Given the description of an element on the screen output the (x, y) to click on. 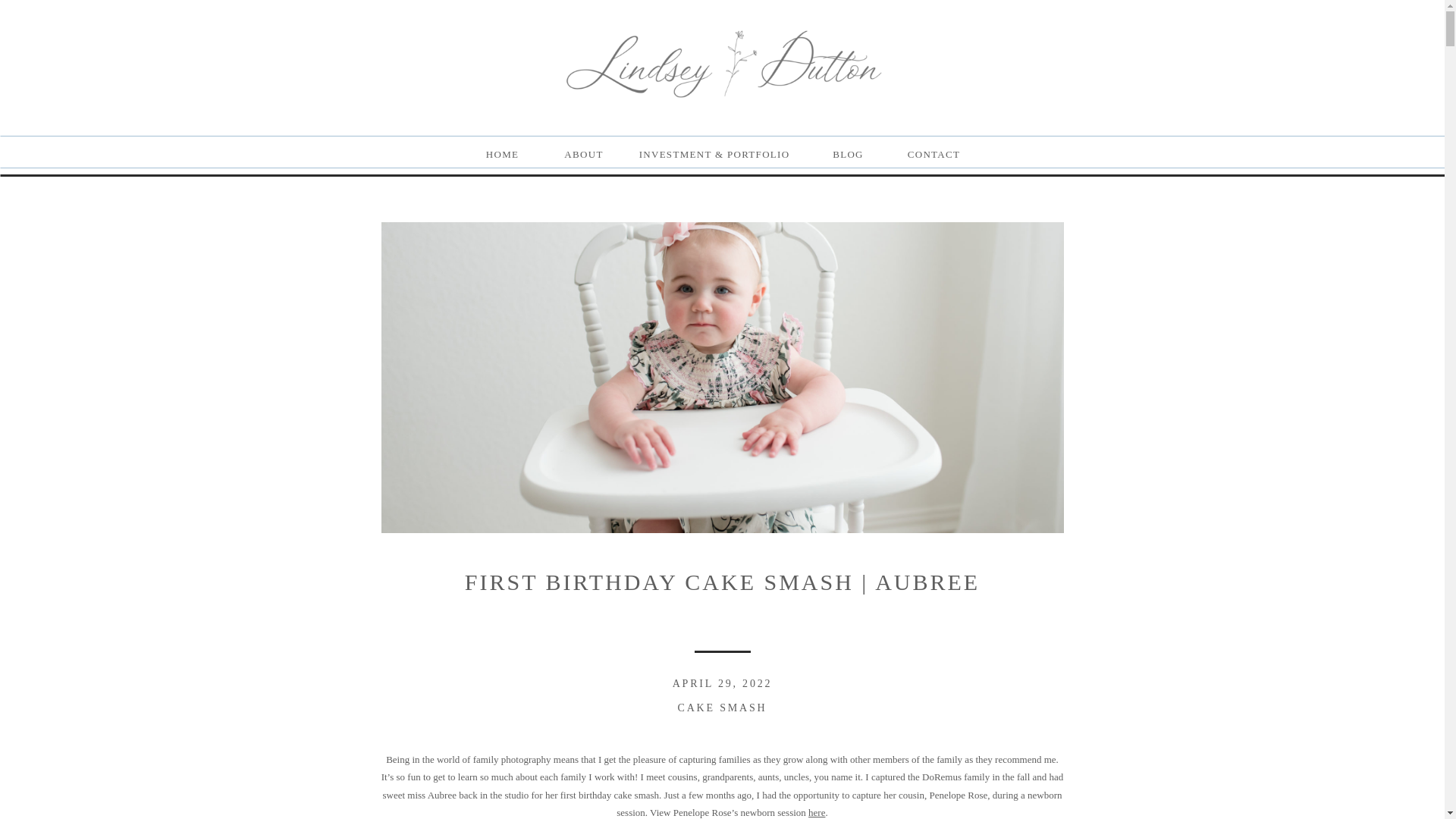
ABOUT (583, 152)
HOME (501, 152)
CONTACT (933, 152)
BLOG (847, 152)
CAKE SMASH (722, 707)
here (816, 812)
